Given the description of an element on the screen output the (x, y) to click on. 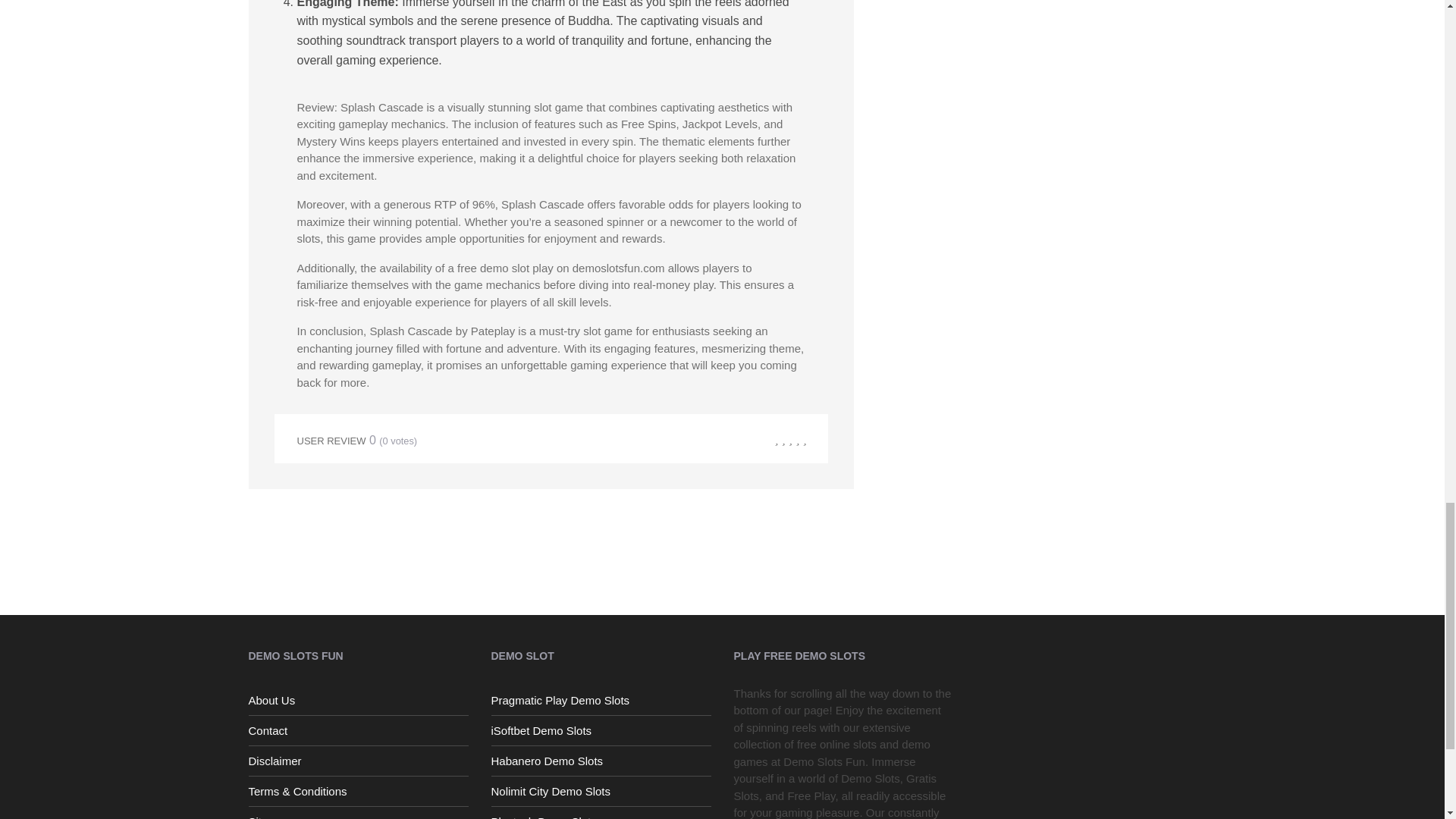
About Us (358, 700)
iSoftbet Demo Slots (601, 730)
Habanero Demo Slots (601, 761)
Pragmatic Play Demo Slots (601, 700)
Playtech Demo Slots (601, 814)
Contact (358, 730)
Disclaimer (358, 761)
Nolimit City Demo Slots (601, 791)
Sitemap (358, 814)
Habanero Demo Slots (601, 761)
Nolimit City Demo Slots (601, 791)
Pragmatic Play Demo Slots (601, 700)
iSoftbet Demo Slots (601, 730)
Playtech Demo Slots (601, 814)
